Given the description of an element on the screen output the (x, y) to click on. 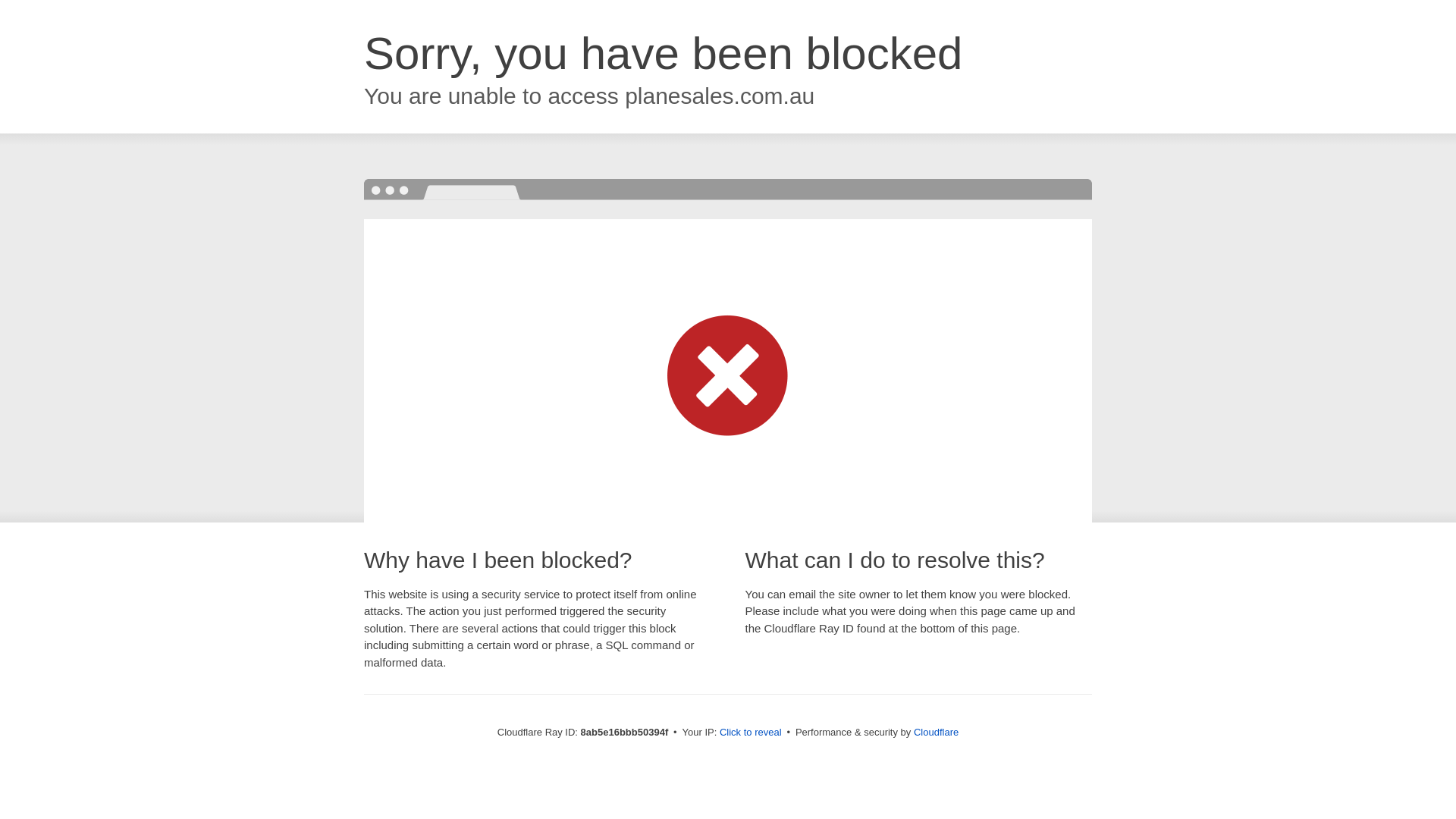
Cloudflare (936, 731)
Click to reveal (750, 732)
